Given the description of an element on the screen output the (x, y) to click on. 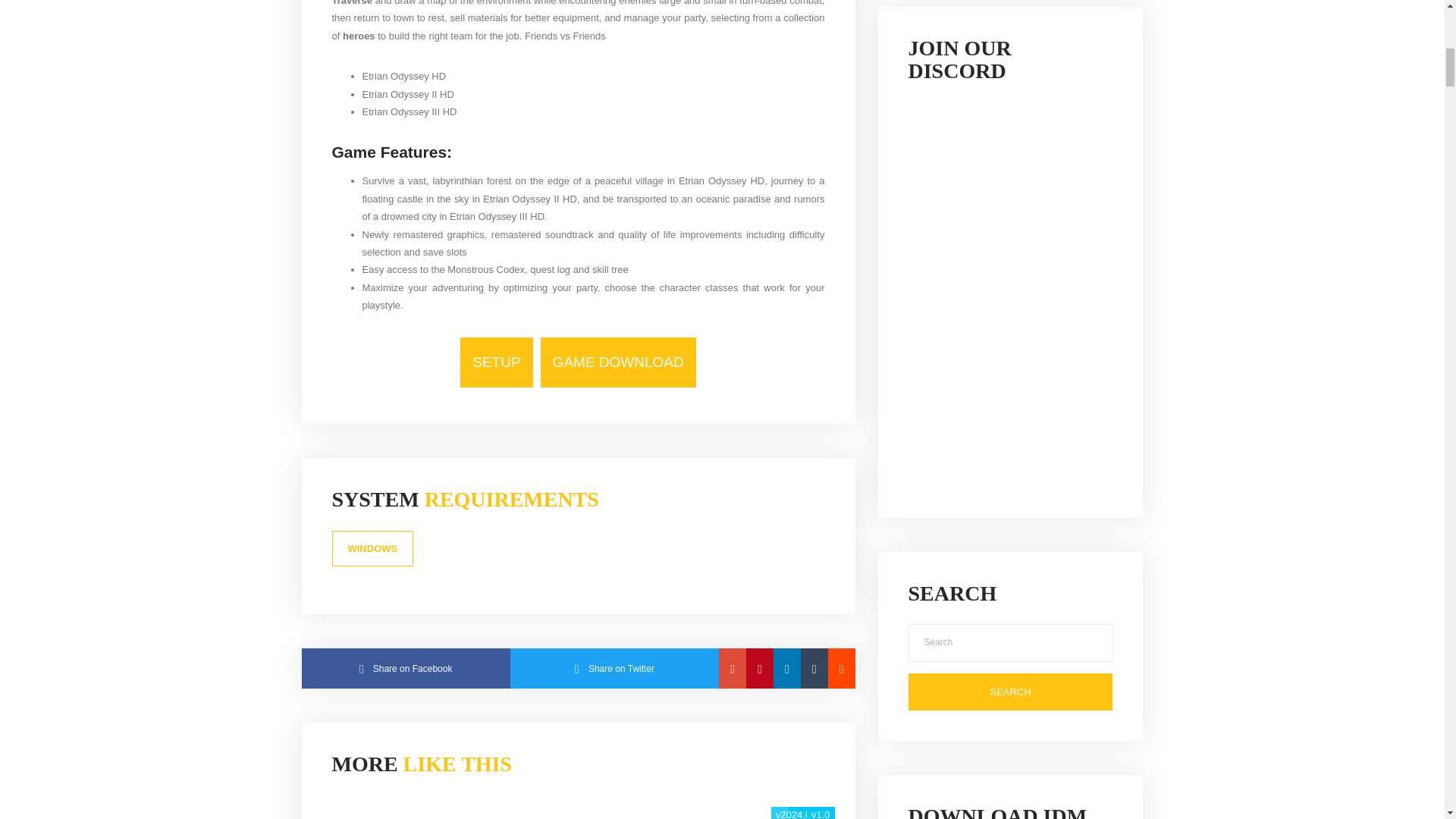
Facebook (406, 668)
Twitter (615, 668)
